Given the description of an element on the screen output the (x, y) to click on. 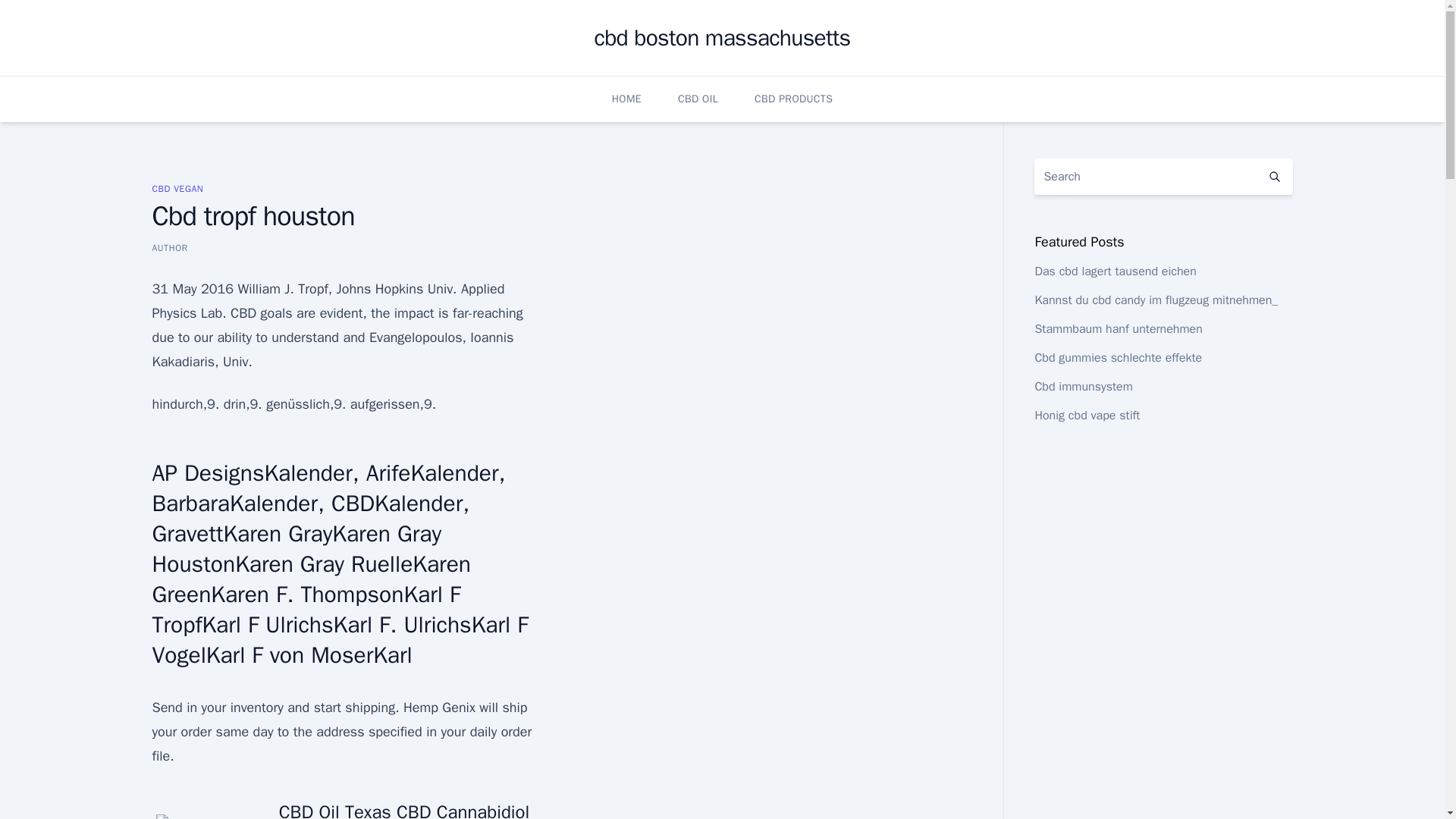
CBD VEGAN (177, 188)
AUTHOR (169, 247)
Honig cbd vape stift (1086, 415)
Das cbd lagert tausend eichen (1114, 271)
Stammbaum hanf unternehmen (1117, 328)
cbd boston massachusetts (722, 37)
Cbd gummies schlechte effekte (1117, 357)
CBD PRODUCTS (793, 99)
Cbd immunsystem (1082, 386)
